Given the description of an element on the screen output the (x, y) to click on. 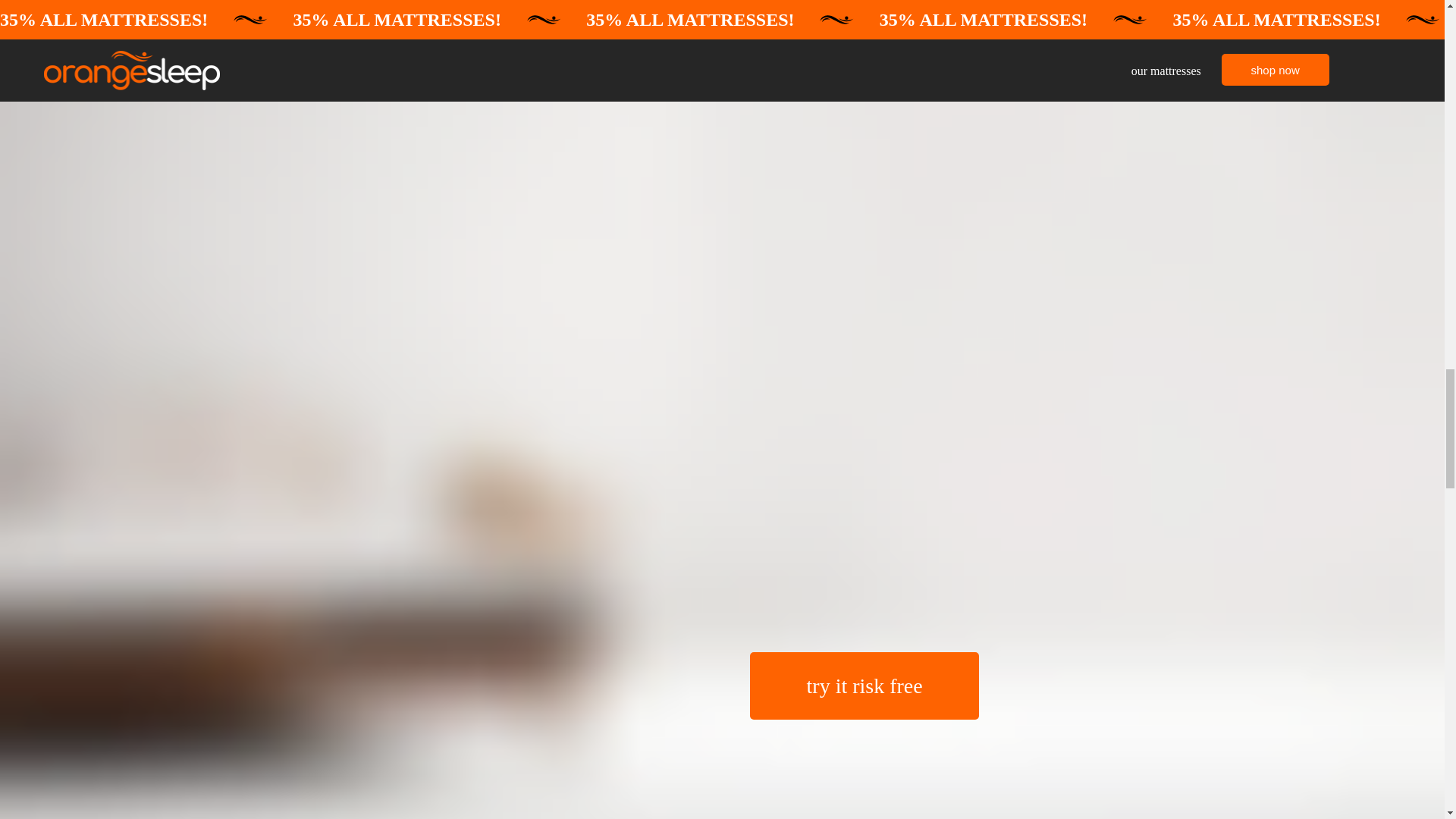
try it risk free (864, 685)
